Given the description of an element on the screen output the (x, y) to click on. 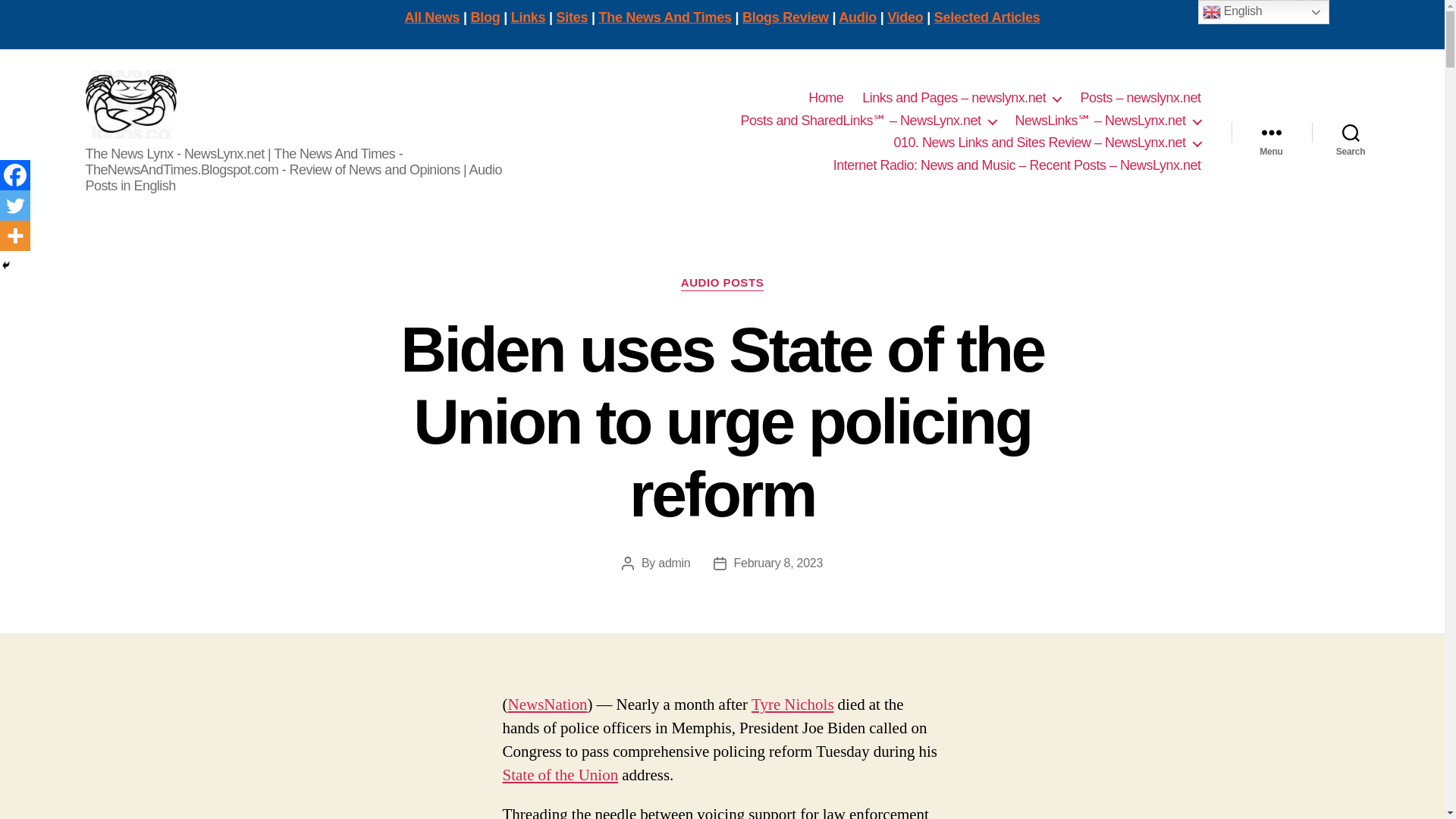
The News And Times (665, 17)
Home (825, 98)
All News (432, 17)
Blogs Review (785, 17)
Selected Articles (987, 17)
Sites (572, 17)
Audio (857, 17)
Links (528, 17)
Video (904, 17)
More (15, 235)
Hide (5, 265)
Twitter (15, 205)
Search (1350, 131)
Menu (1271, 131)
Facebook (15, 174)
